Given the description of an element on the screen output the (x, y) to click on. 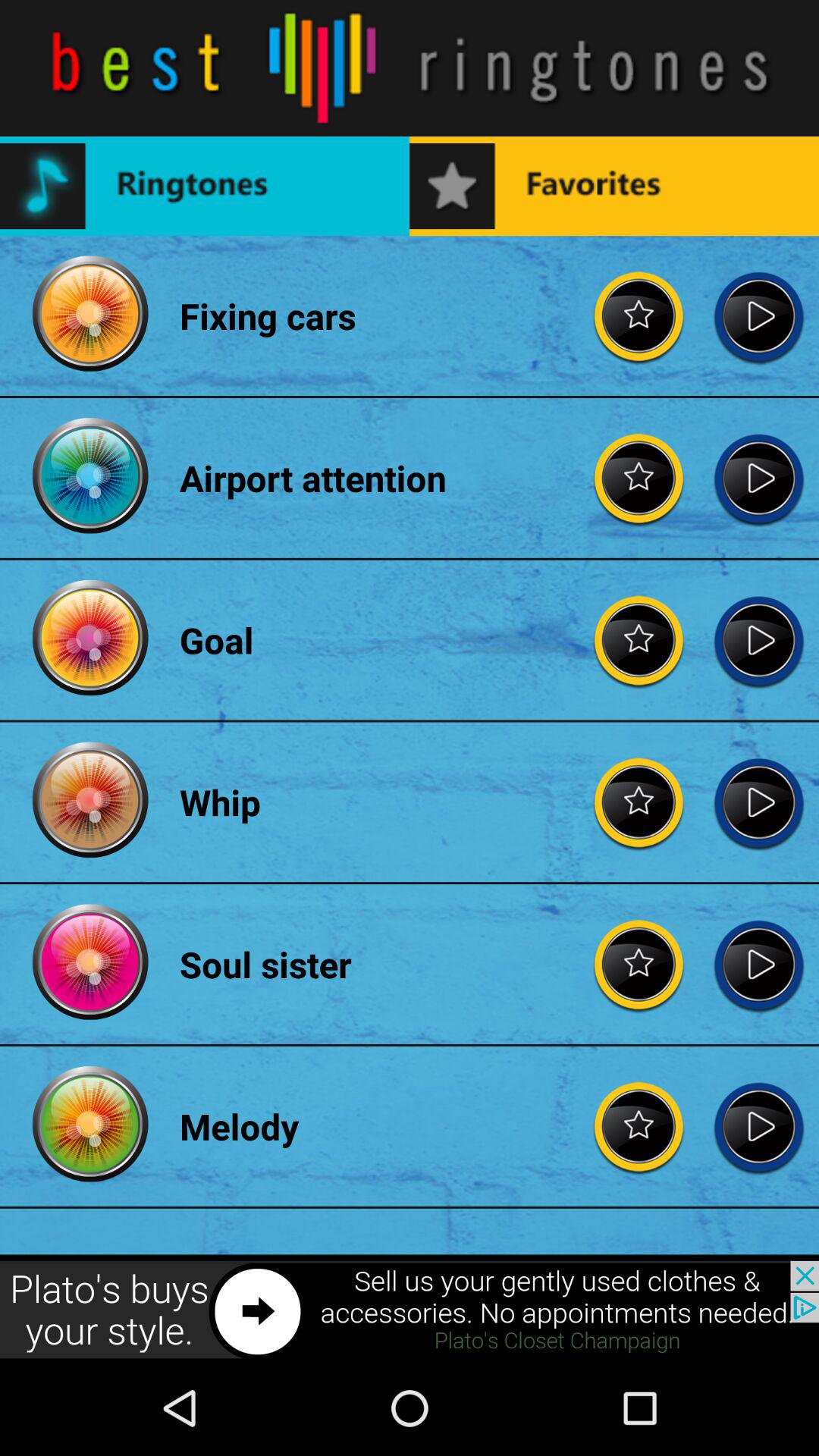
favorite melodies (639, 1126)
